Given the description of an element on the screen output the (x, y) to click on. 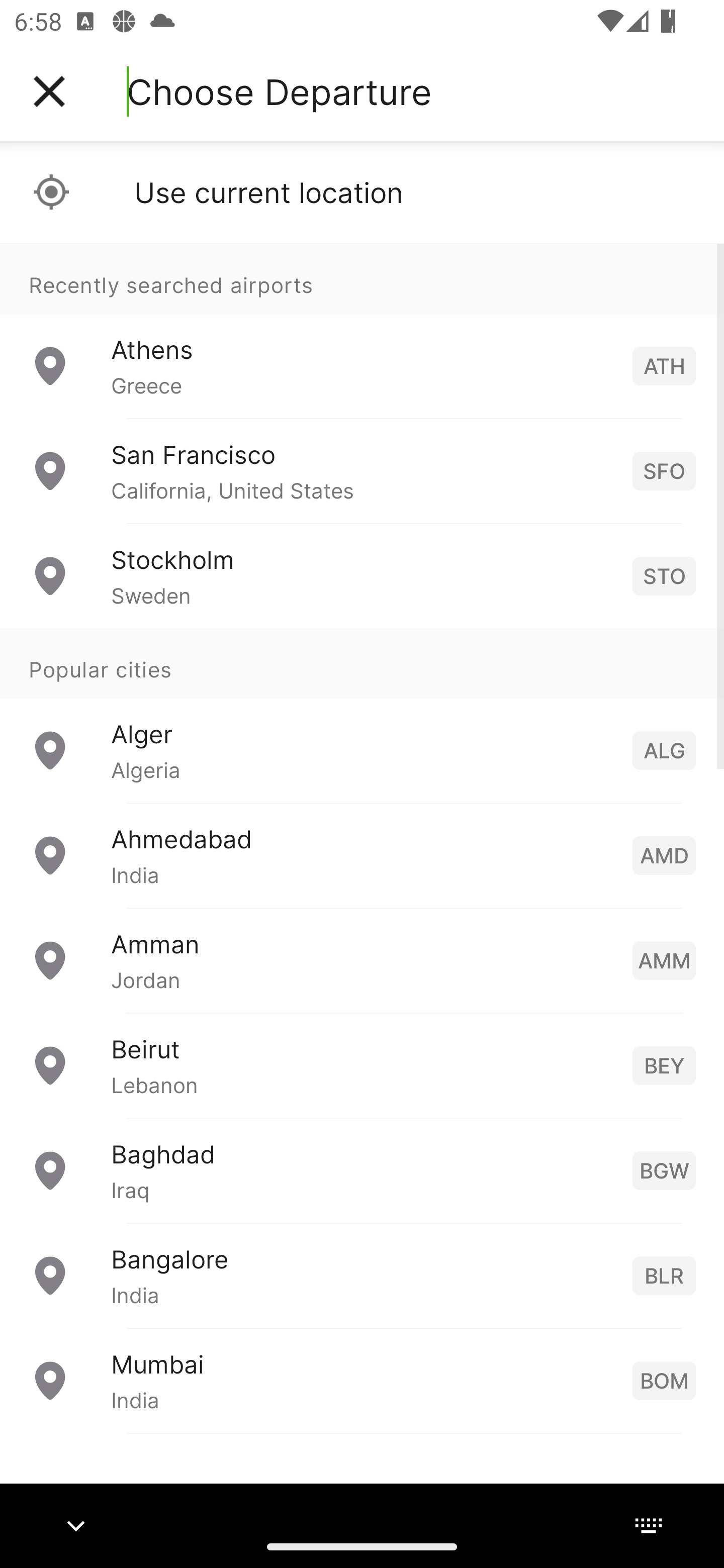
Choose Departure (279, 91)
Use current location (362, 192)
Recently searched airports Athens Greece ATH (362, 330)
Recently searched airports (362, 278)
San Francisco California, United States SFO (362, 470)
Stockholm Sweden STO (362, 575)
Popular cities Alger Algeria ALG (362, 715)
Popular cities (362, 663)
Ahmedabad India AMD (362, 854)
Amman Jordan AMM (362, 959)
Beirut Lebanon BEY (362, 1064)
Baghdad Iraq BGW (362, 1170)
Bangalore India BLR (362, 1275)
Mumbai India BOM (362, 1380)
